Given the description of an element on the screen output the (x, y) to click on. 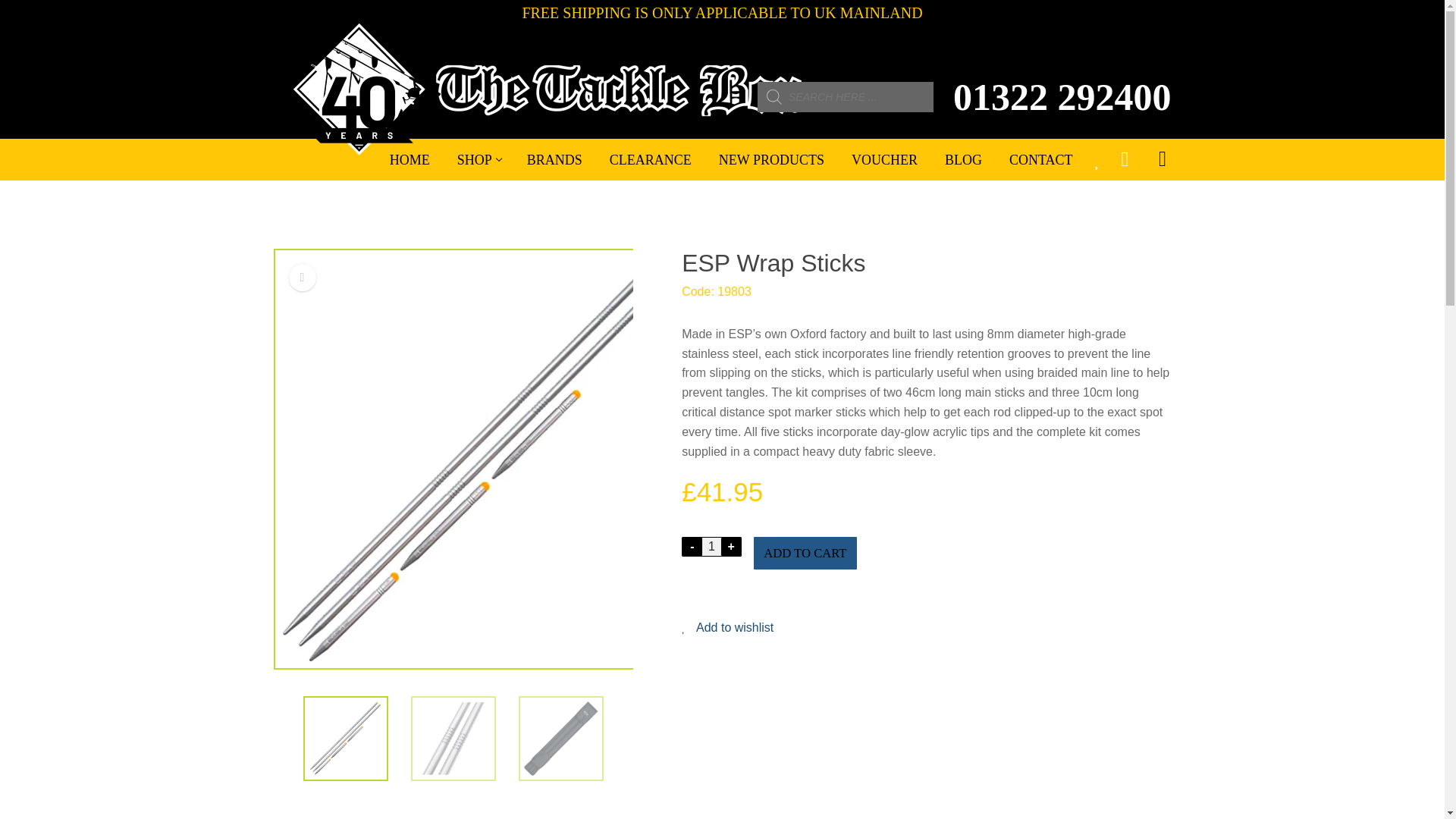
19803 (345, 738)
HOME (409, 160)
19803 (453, 738)
19803 (561, 738)
1 (711, 546)
PayPal Message 1 (925, 595)
01322 292400 (1062, 96)
